Given the description of an element on the screen output the (x, y) to click on. 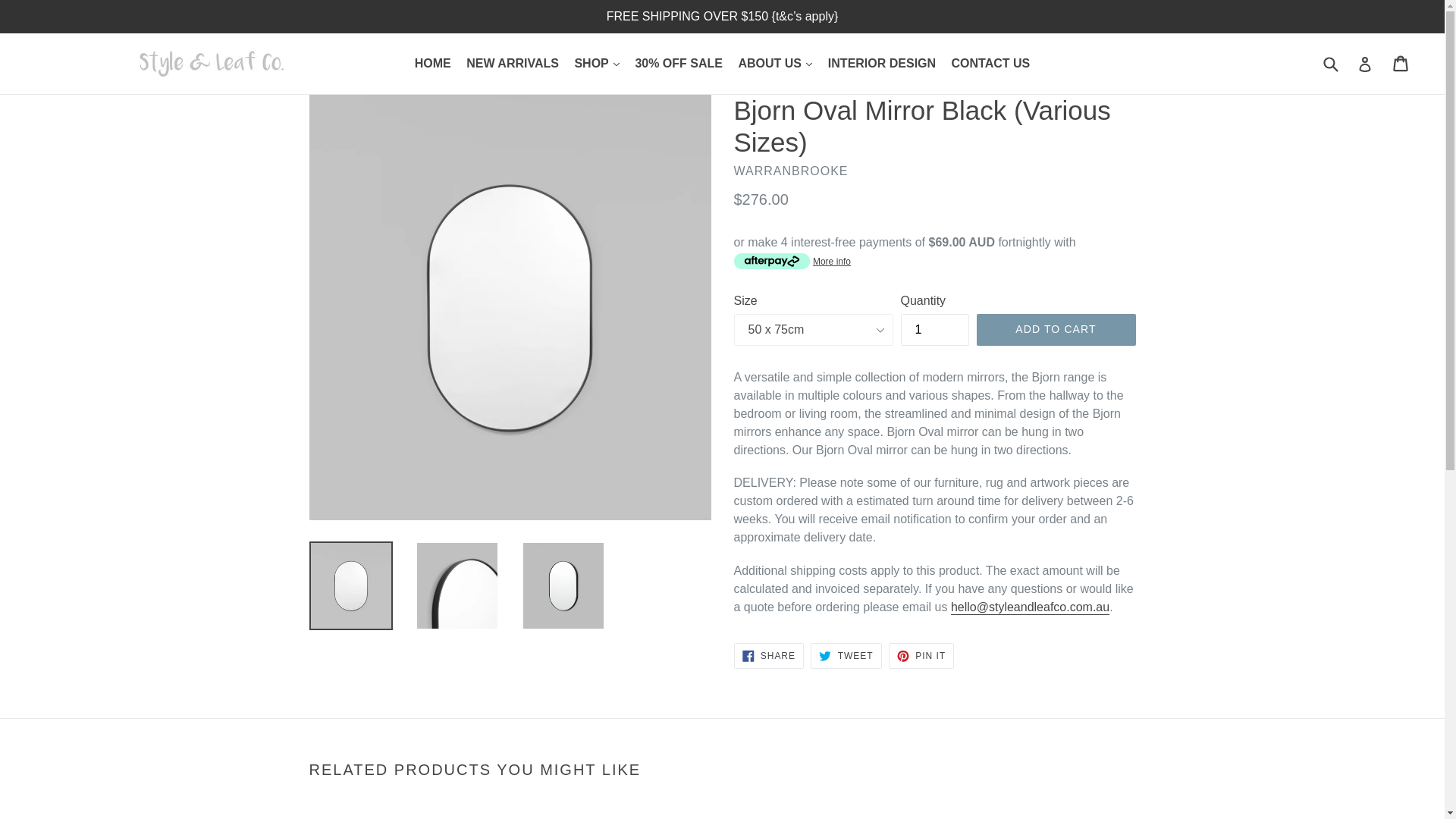
Share on Facebook (768, 655)
HOME (433, 63)
Pin on Pinterest (920, 655)
Tweet on Twitter (845, 655)
1 (935, 328)
